Given the description of an element on the screen output the (x, y) to click on. 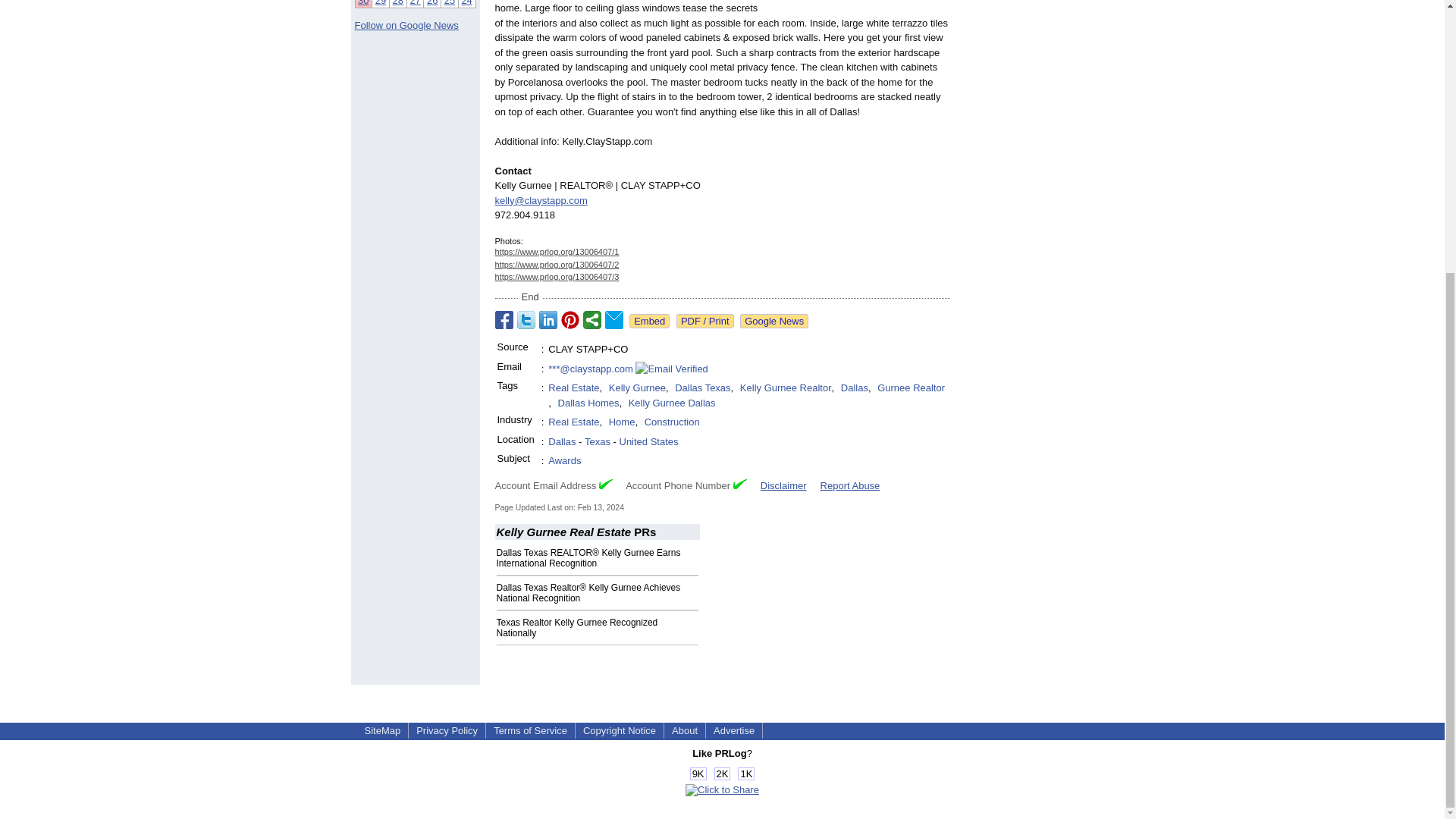
24 (466, 2)
Share on Facebook (503, 320)
Email to a Friend (614, 320)
30 (363, 2)
See or print the PDF version! (705, 320)
26 (432, 2)
29 (380, 2)
25 (449, 2)
Share on LinkedIn (547, 320)
Share on Twitter (525, 320)
